Given the description of an element on the screen output the (x, y) to click on. 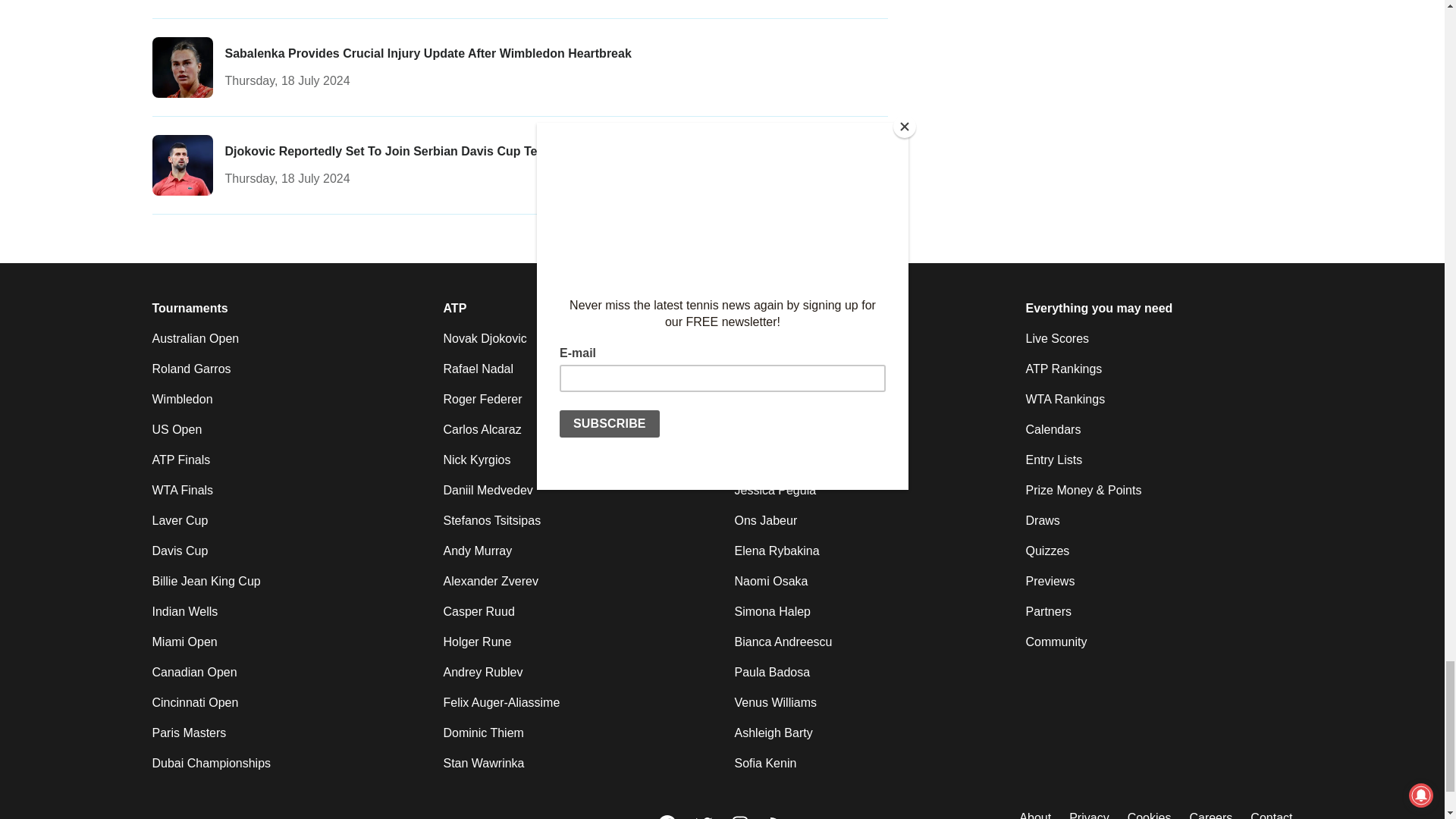
About (1035, 814)
Careers (1210, 814)
ATP (453, 308)
WTA (746, 308)
Cookies (1149, 814)
Contact (1271, 814)
Privacy (1088, 814)
